Given the description of an element on the screen output the (x, y) to click on. 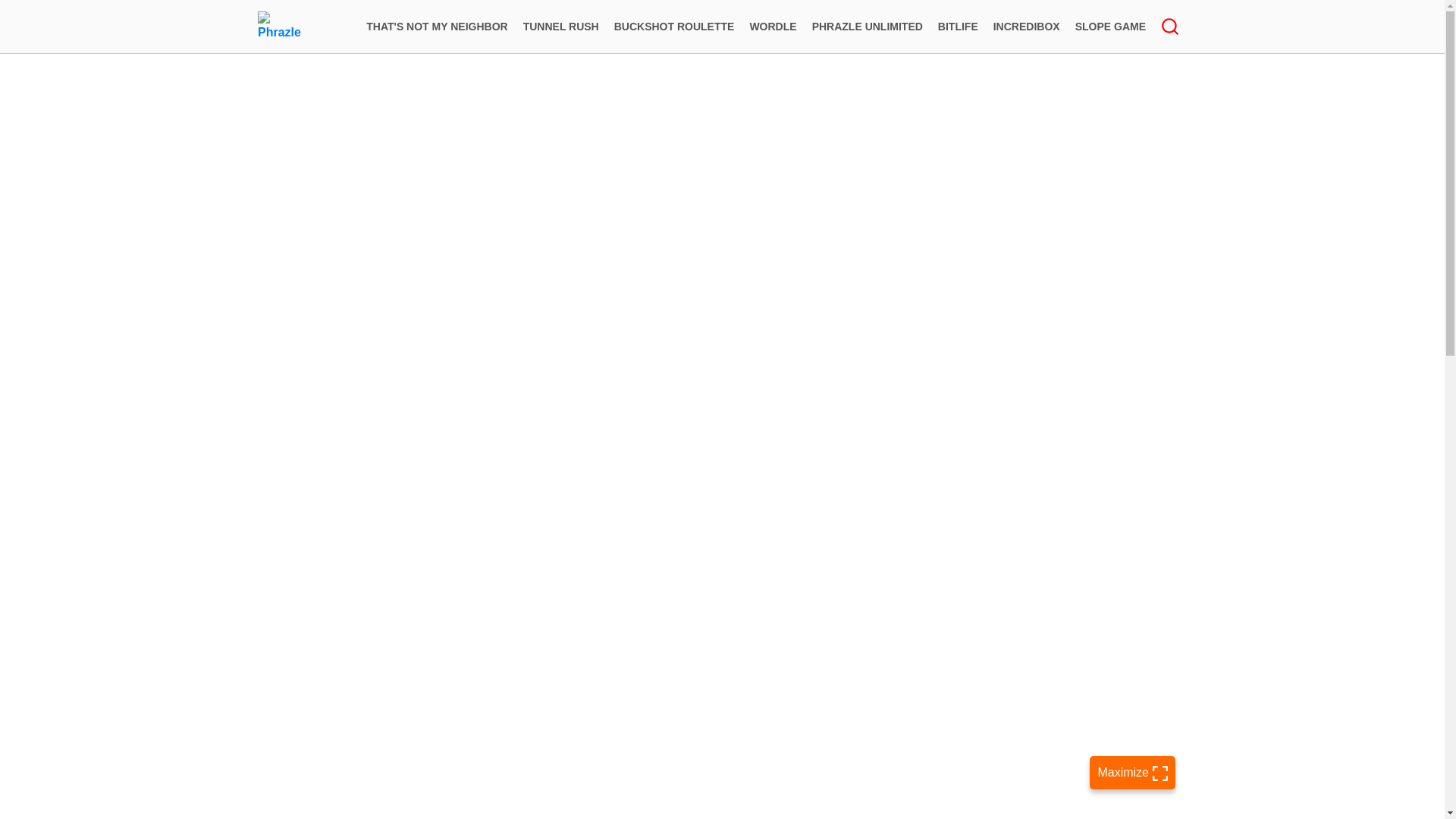
Play in fullscreen (1131, 772)
Phrazle (282, 26)
BITLIFE (957, 26)
PHRAZLE UNLIMITED (867, 26)
INCREDIBOX (1026, 26)
SLOPE GAME (1110, 26)
WORDLE (772, 26)
BUCKSHOT ROULETTE (674, 26)
THAT'S NOT MY NEIGHBOR (436, 26)
